Given the description of an element on the screen output the (x, y) to click on. 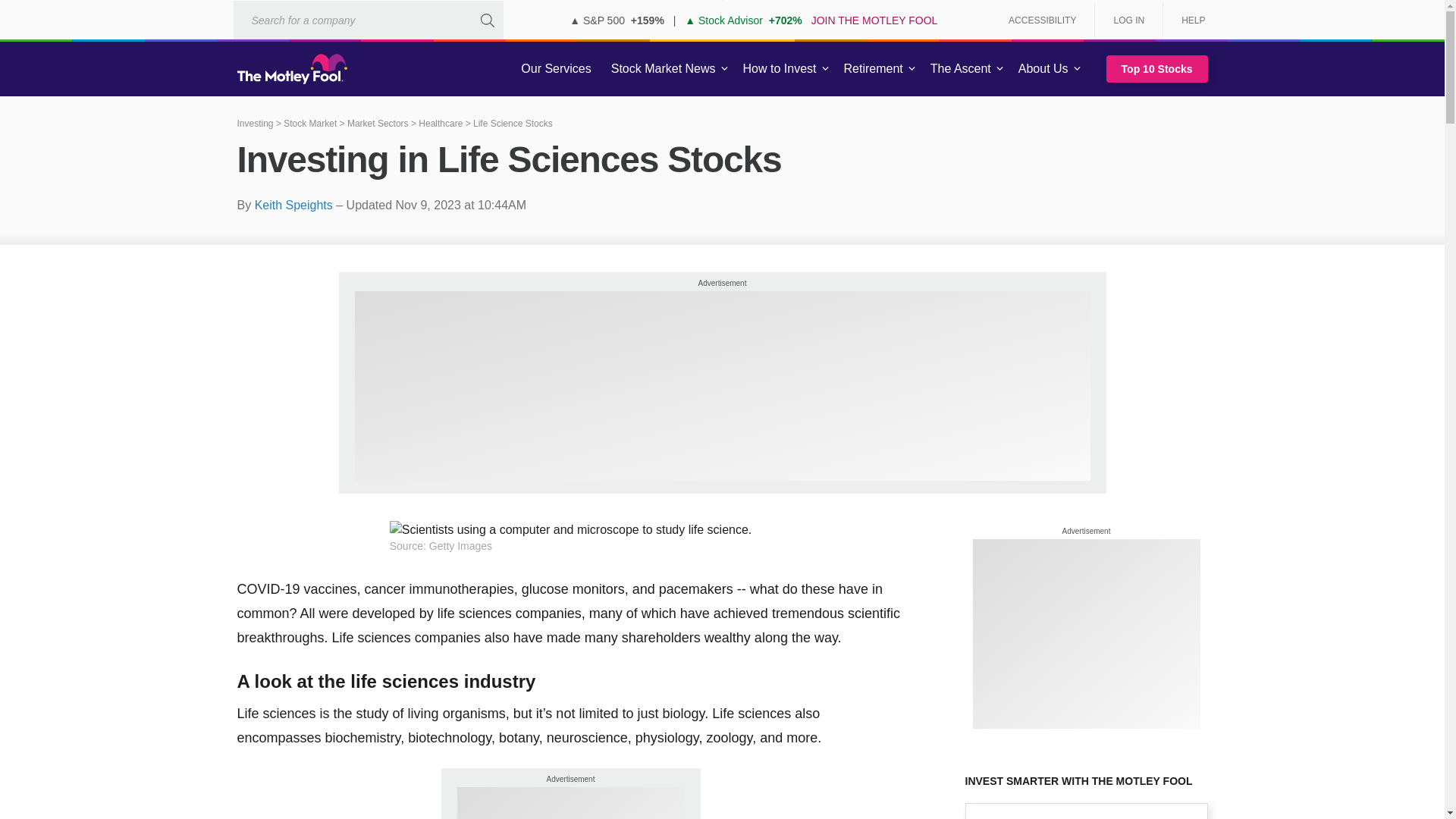
LOG IN (1128, 19)
Stock Market News (662, 68)
HELP (1187, 19)
ACCESSIBILITY (1042, 19)
Our Services (555, 68)
How to Invest (779, 68)
